Given the description of an element on the screen output the (x, y) to click on. 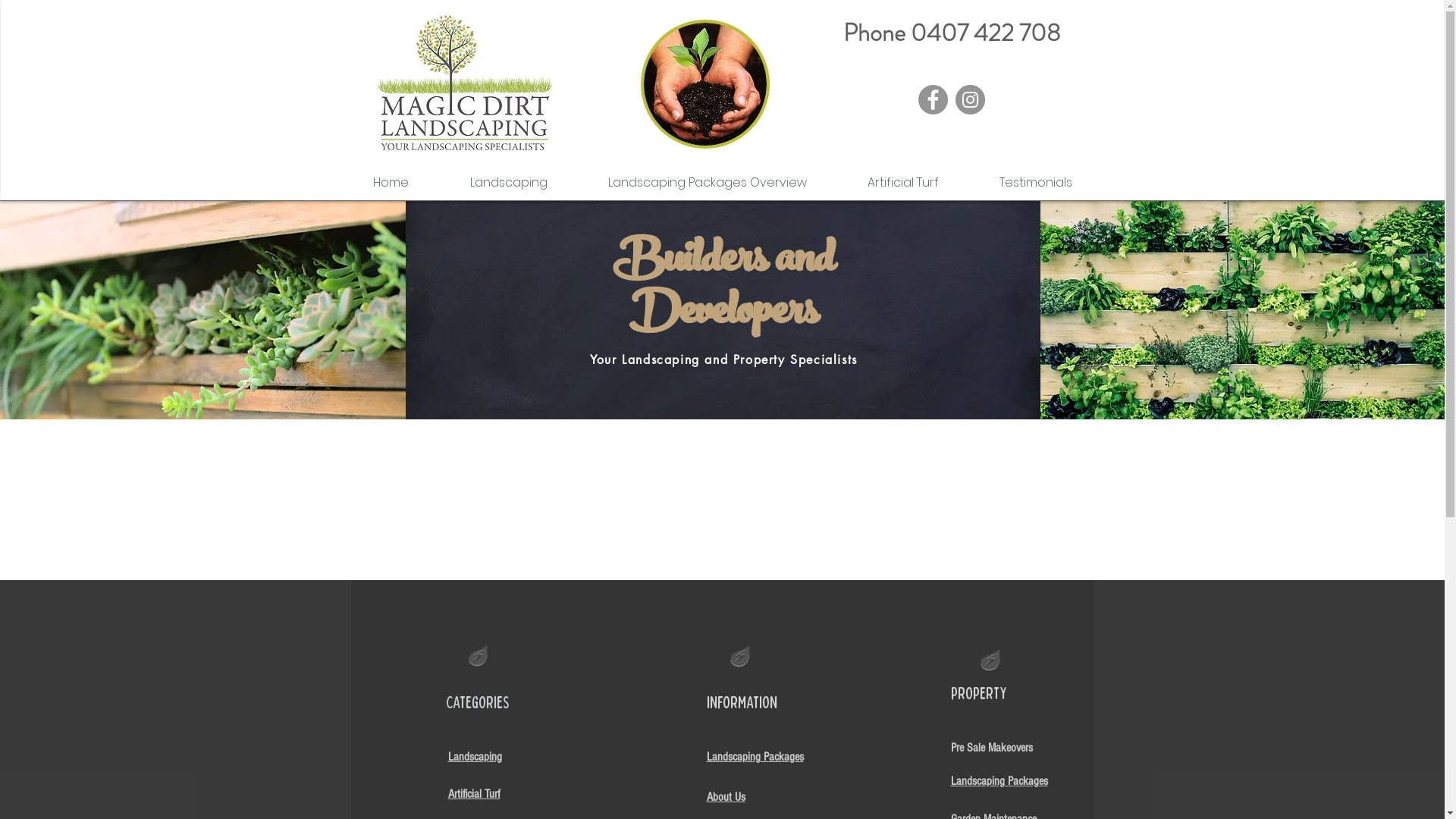
Landscaping Packages Element type: text (754, 755)
LOGO - Magic Dirt RGB.jpg Element type: hover (464, 82)
Landscaping Packages Element type: text (999, 779)
Landscaping Element type: text (508, 182)
About Us Element type: text (725, 795)
Artificial Turf Element type: text (903, 182)
Artificial Turf Element type: text (473, 792)
Landscaping Packages Overview Element type: text (707, 182)
Landscaping Element type: text (474, 755)
Home Element type: text (390, 182)
Testimonials Element type: text (1035, 182)
